Given the description of an element on the screen output the (x, y) to click on. 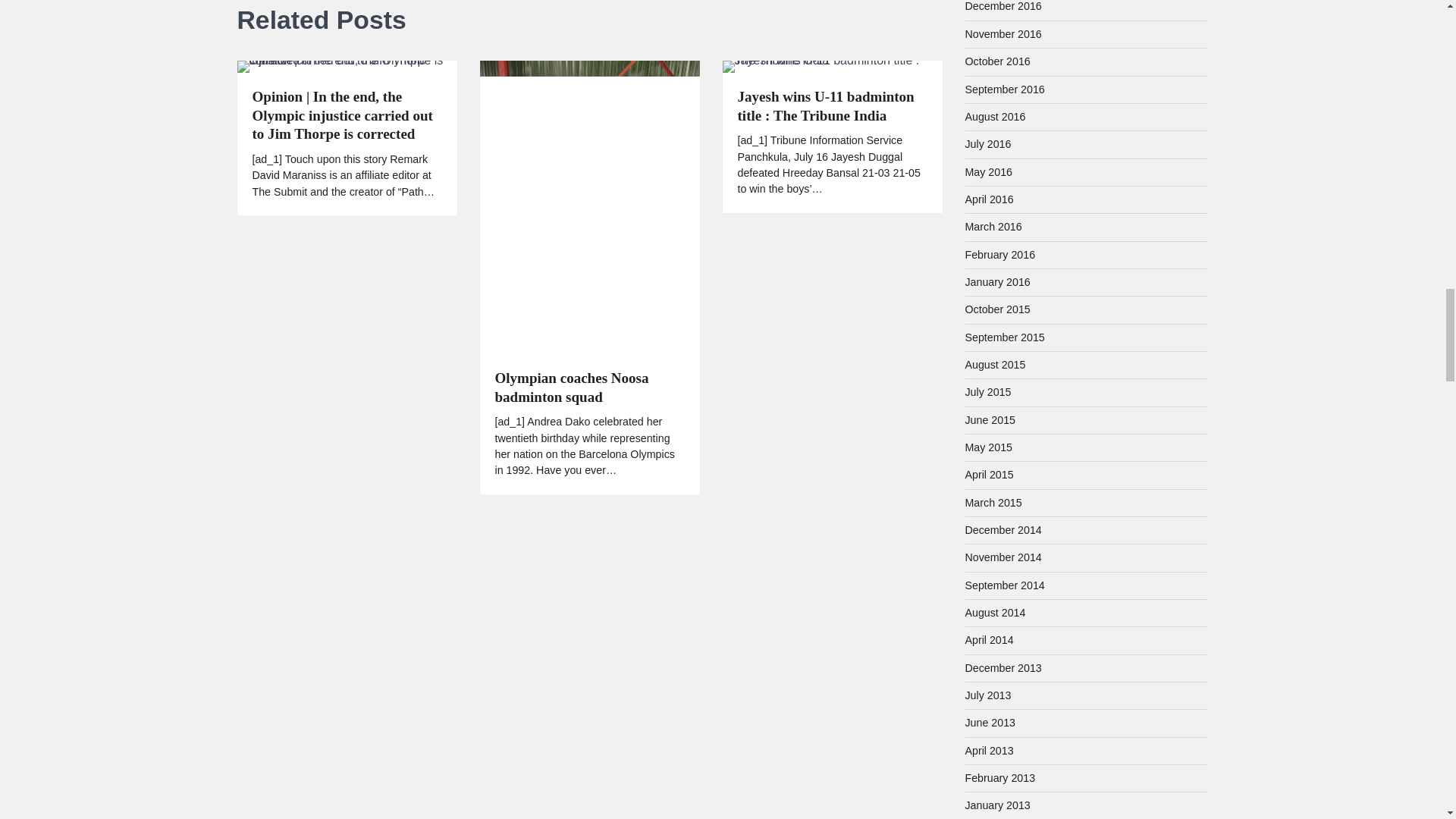
Olympian coaches Noosa badminton squad (589, 388)
Jayesh wins U-11 badminton title : The Tribune India (831, 106)
Jayesh wins U-11 badminton title : The Tribune India (832, 66)
